Given the description of an element on the screen output the (x, y) to click on. 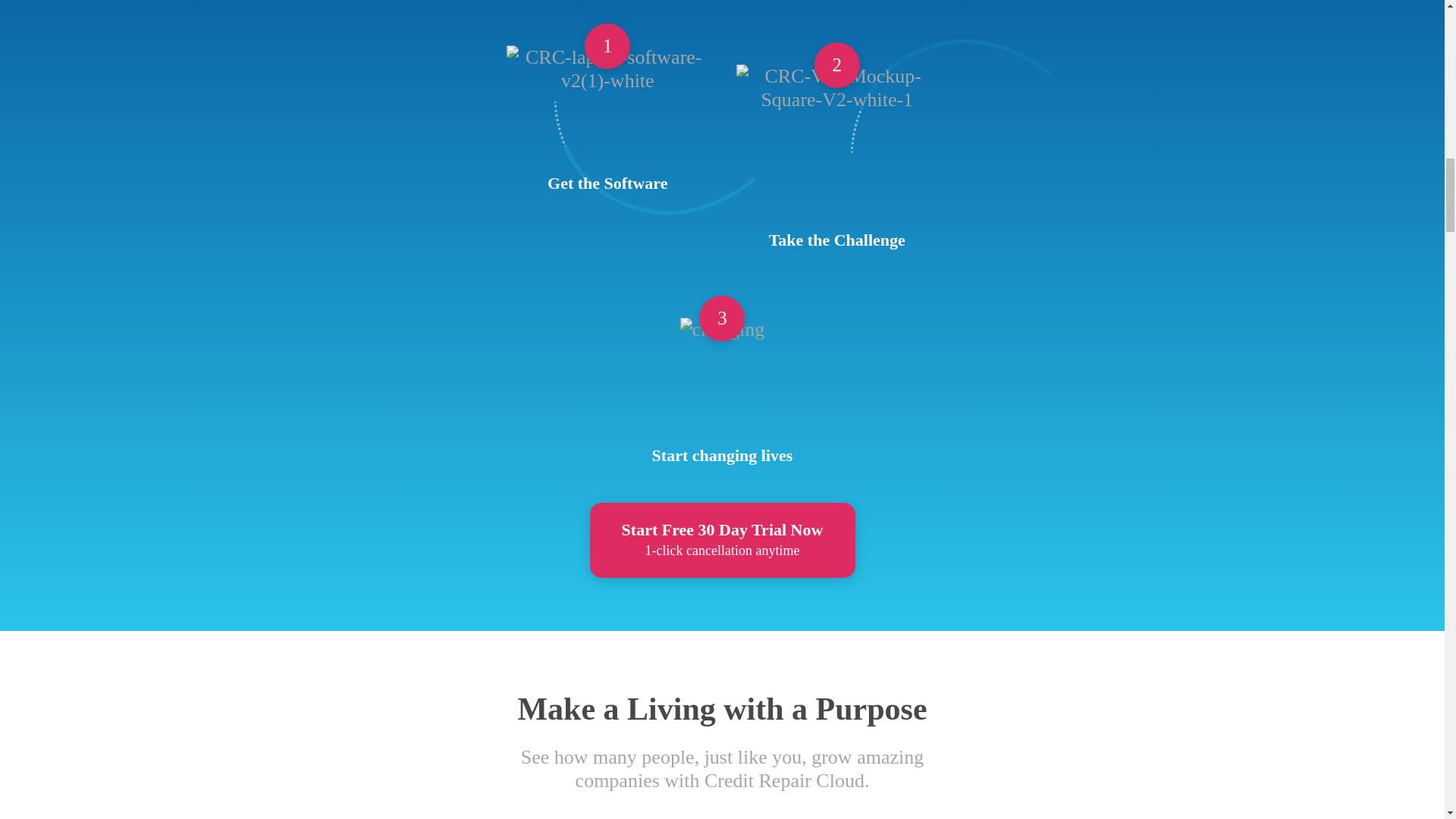
Start Free 30 Day Trial Now 1-click cancellation anytime (722, 540)
